Given the description of an element on the screen output the (x, y) to click on. 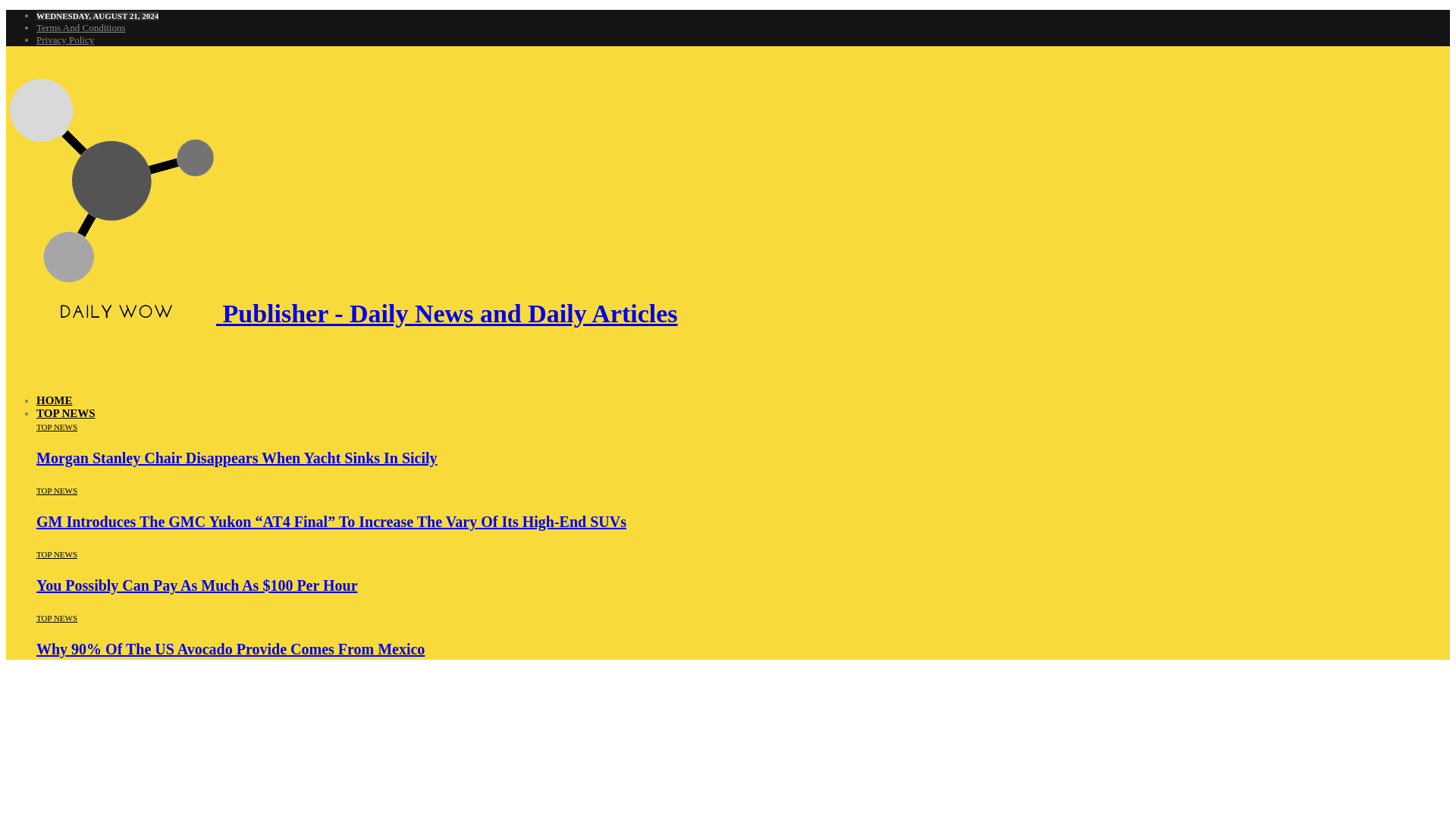
TOP NEWS (56, 490)
HOME (54, 399)
Publisher - Daily News and Daily Articles (341, 313)
TOP NEWS (56, 617)
TOP NEWS (56, 553)
Morgan Stanley Chair Disappears When Yacht Sinks In Sicily (237, 457)
Terms And Conditions (80, 27)
Privacy Policy (65, 39)
TOP NEWS (66, 413)
TOP NEWS (56, 426)
